Given the description of an element on the screen output the (x, y) to click on. 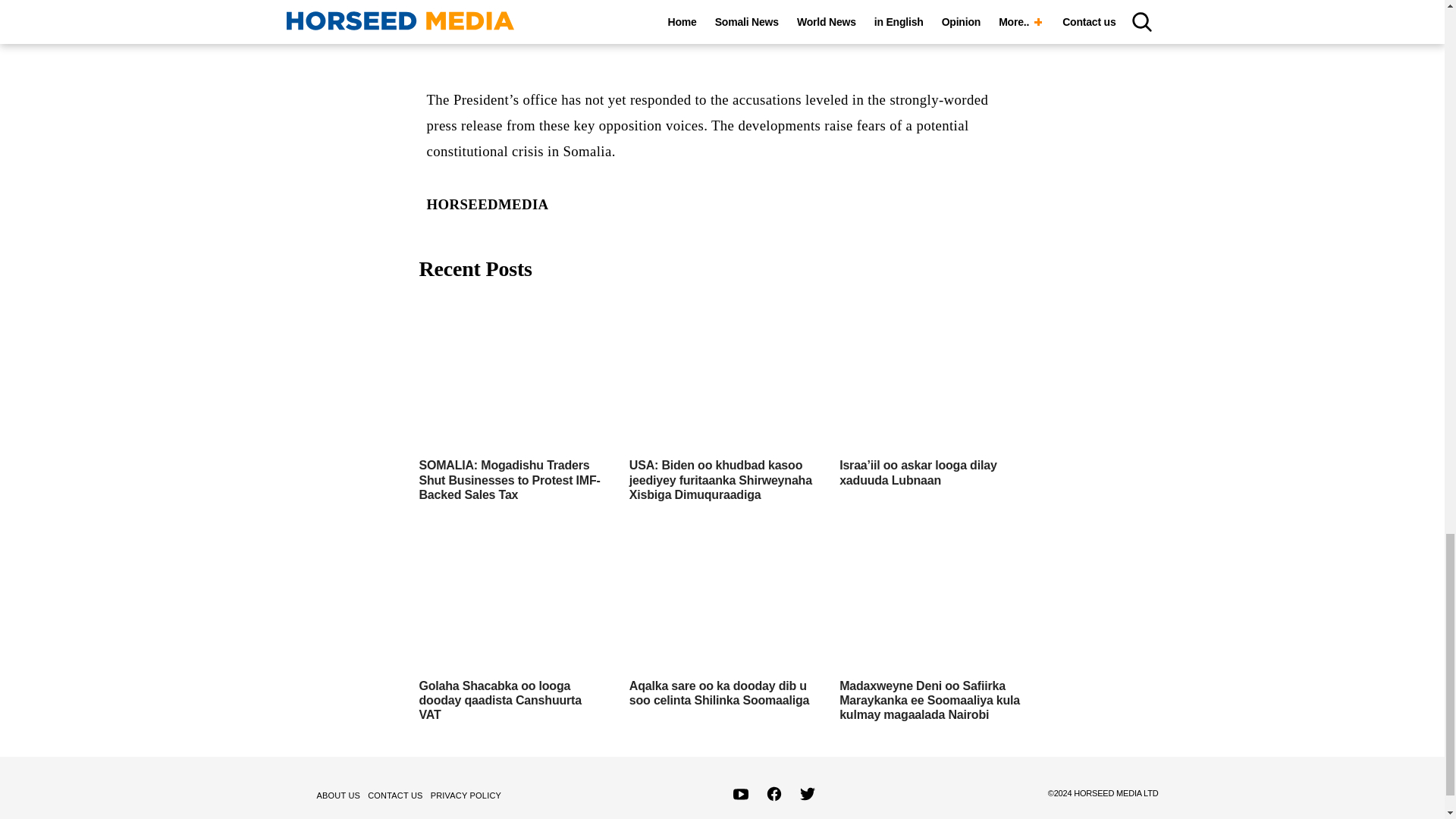
ABOUT US (341, 794)
Golaha Shacabka oo looga dooday qaadista Canshuurta VAT (499, 700)
